Given the description of an element on the screen output the (x, y) to click on. 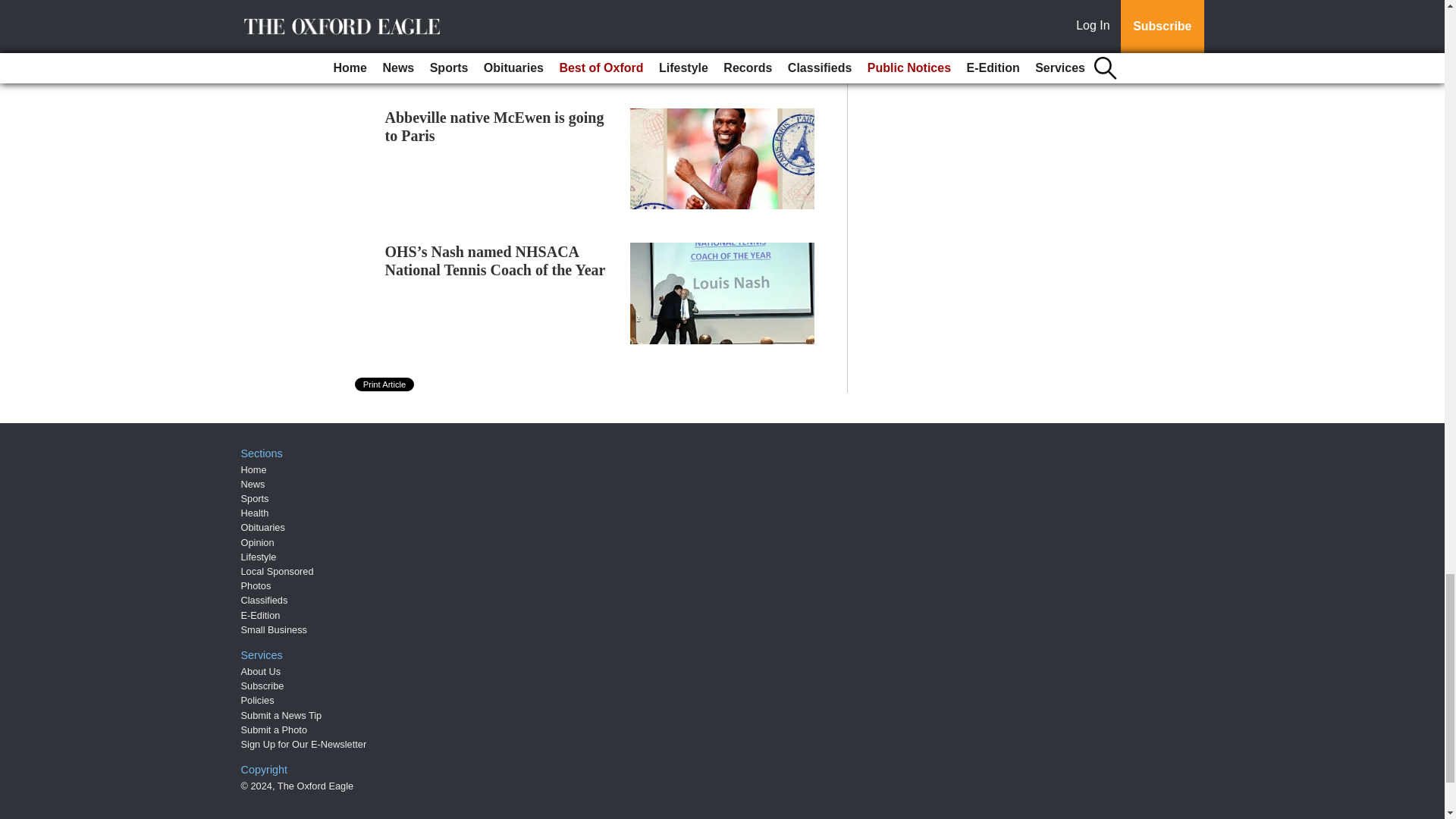
Abbeville native McEwen is going to Paris (494, 126)
